Given the description of an element on the screen output the (x, y) to click on. 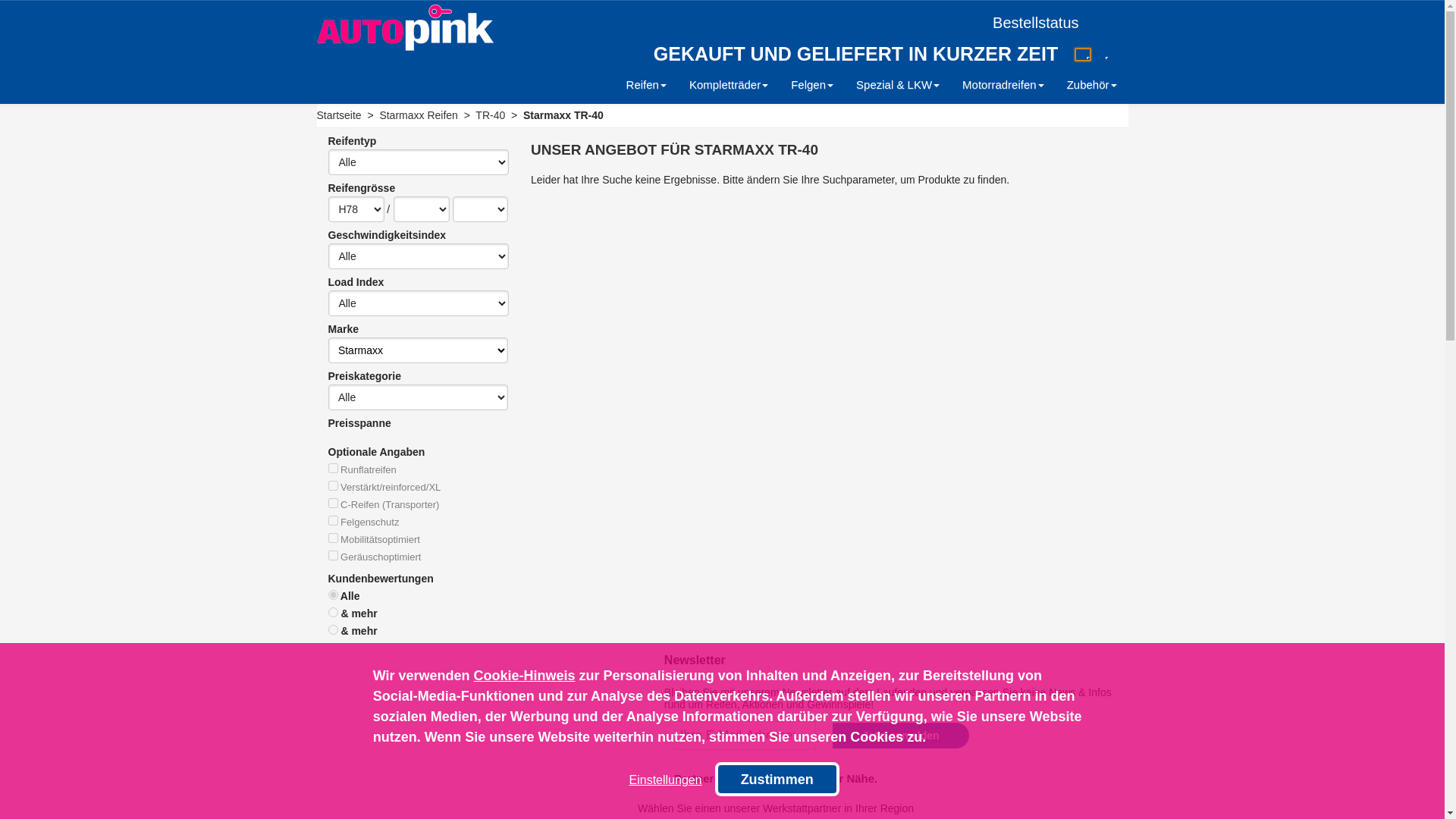
[FR] Element type: text (1101, 54)
Spezial & LKW Element type: text (897, 84)
Motorradreifen Element type: text (1002, 84)
Startseite Element type: text (338, 115)
[DE] Element type: text (1082, 54)
TR-40 Element type: text (490, 115)
Felgen Element type: text (811, 84)
Bestellstatus Element type: text (1043, 22)
Einstellungen Element type: text (665, 779)
Reifen Element type: text (646, 84)
Jetzt anmelden Element type: text (900, 735)
Starmaxx Reifen Element type: text (418, 115)
Zustimmen Element type: text (777, 779)
Cookie-Hinweis Element type: text (524, 675)
